Given the description of an element on the screen output the (x, y) to click on. 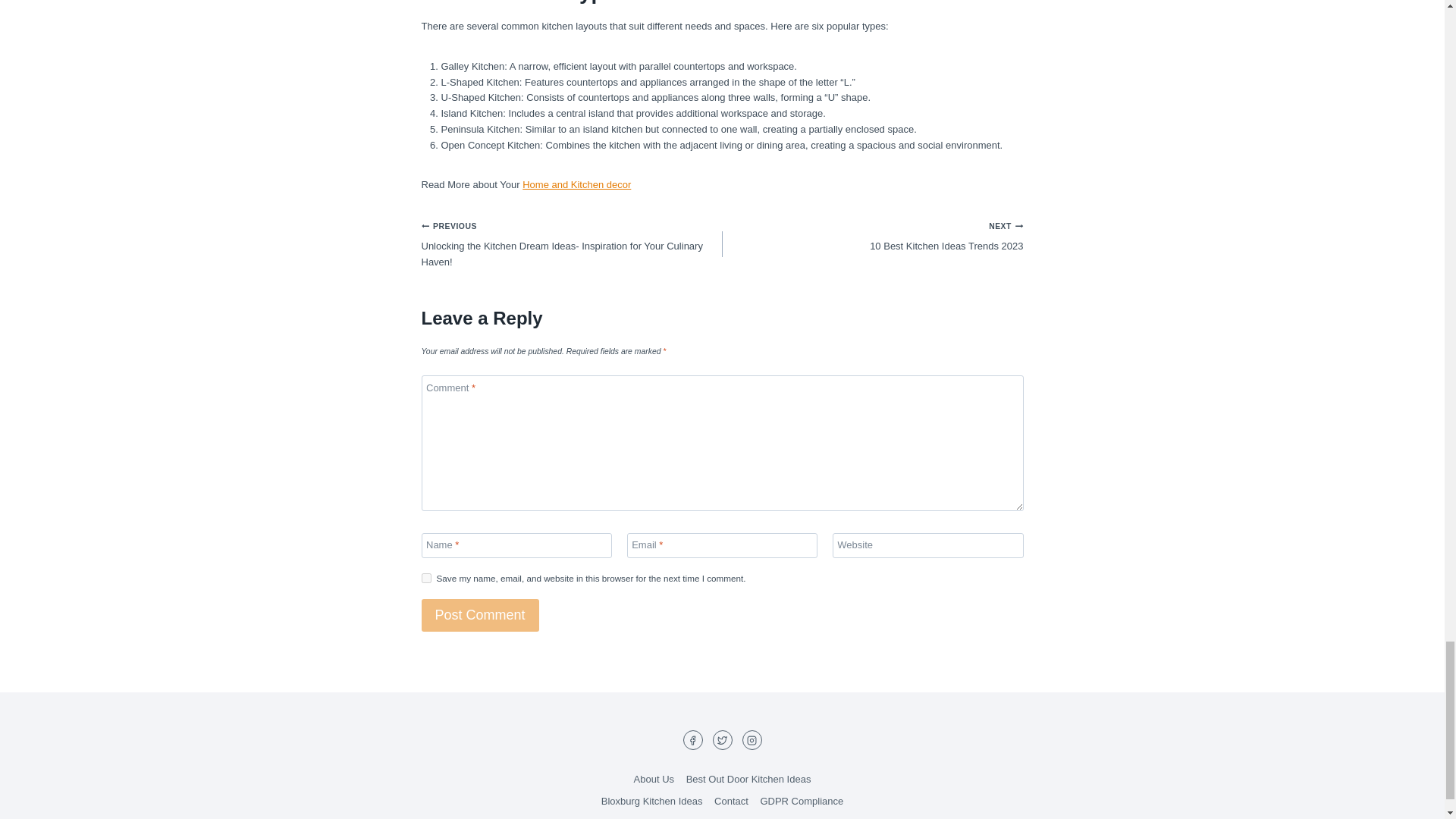
yes (426, 578)
About Us (653, 780)
Post Comment (480, 614)
Best Out Door Kitchen Ideas (872, 236)
Contact (747, 780)
GDPR Compliance (730, 802)
Bloxburg Kitchen Ideas (801, 802)
Post Comment (651, 802)
